Given the description of an element on the screen output the (x, y) to click on. 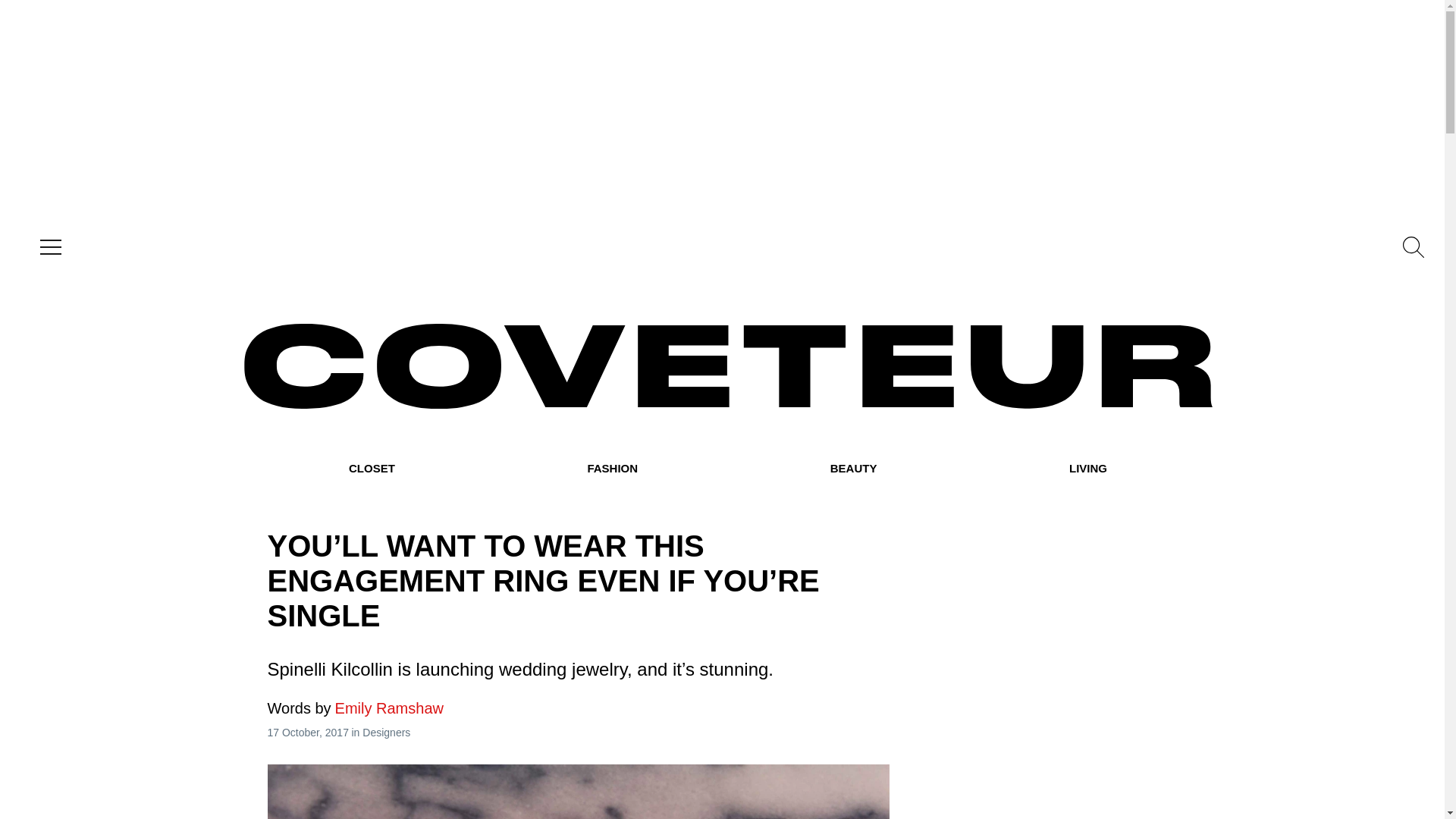
LIVING (1087, 468)
menu (47, 246)
FASHION (611, 468)
BEAUTY (853, 468)
CLOSET (371, 468)
Designers (386, 732)
Emily Ramshaw (354, 708)
